Given the description of an element on the screen output the (x, y) to click on. 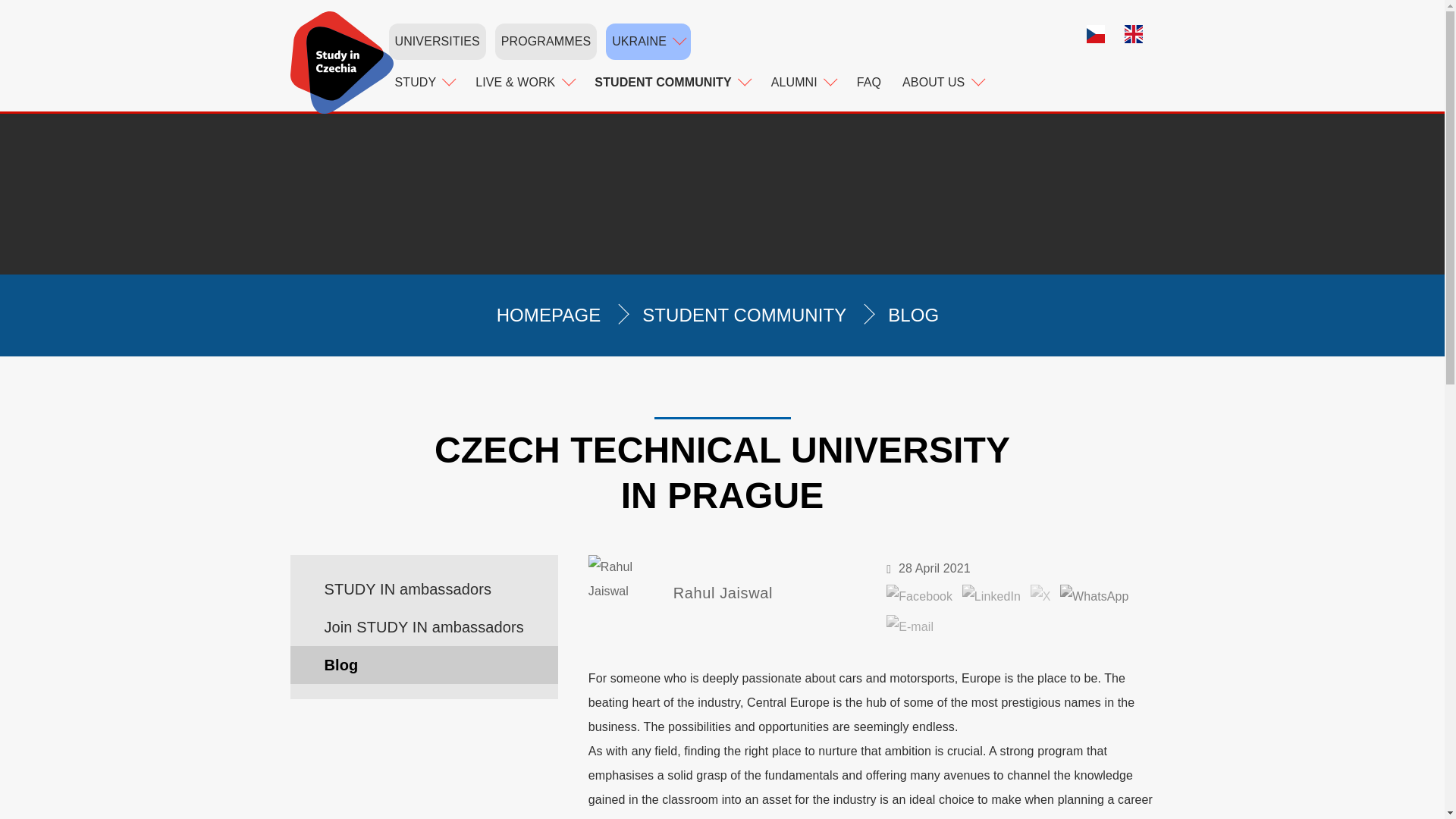
Homepage (341, 62)
Study programmes in the Czech Republic (545, 41)
Universities in the Czech Republic (436, 41)
UKRAINE (647, 41)
PROGRAMMES (545, 41)
UNIVERSITIES (436, 41)
STUDY (424, 82)
English (1139, 36)
